Given the description of an element on the screen output the (x, y) to click on. 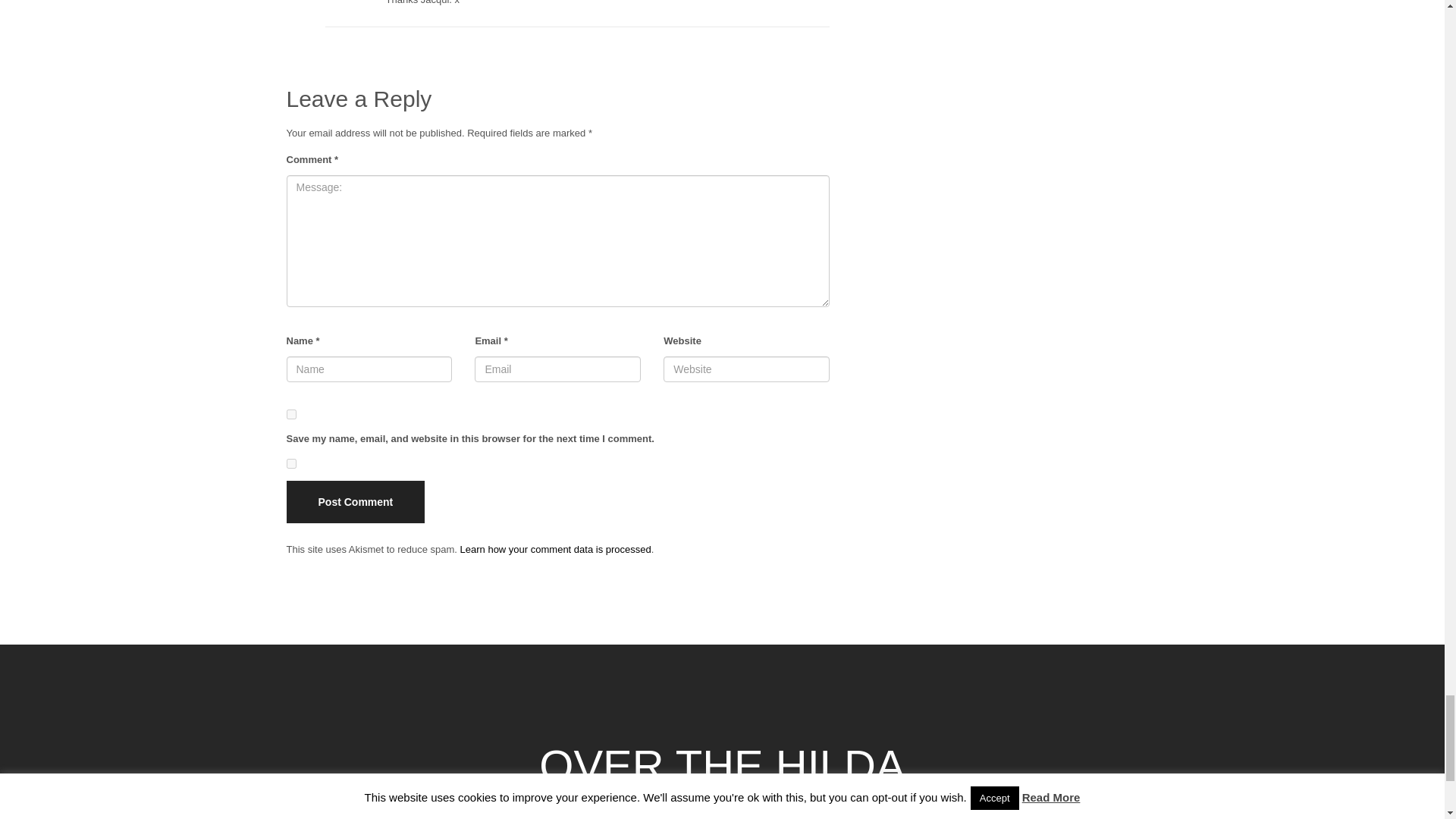
yes (291, 463)
yes (291, 414)
Post Comment (355, 501)
